Given the description of an element on the screen output the (x, y) to click on. 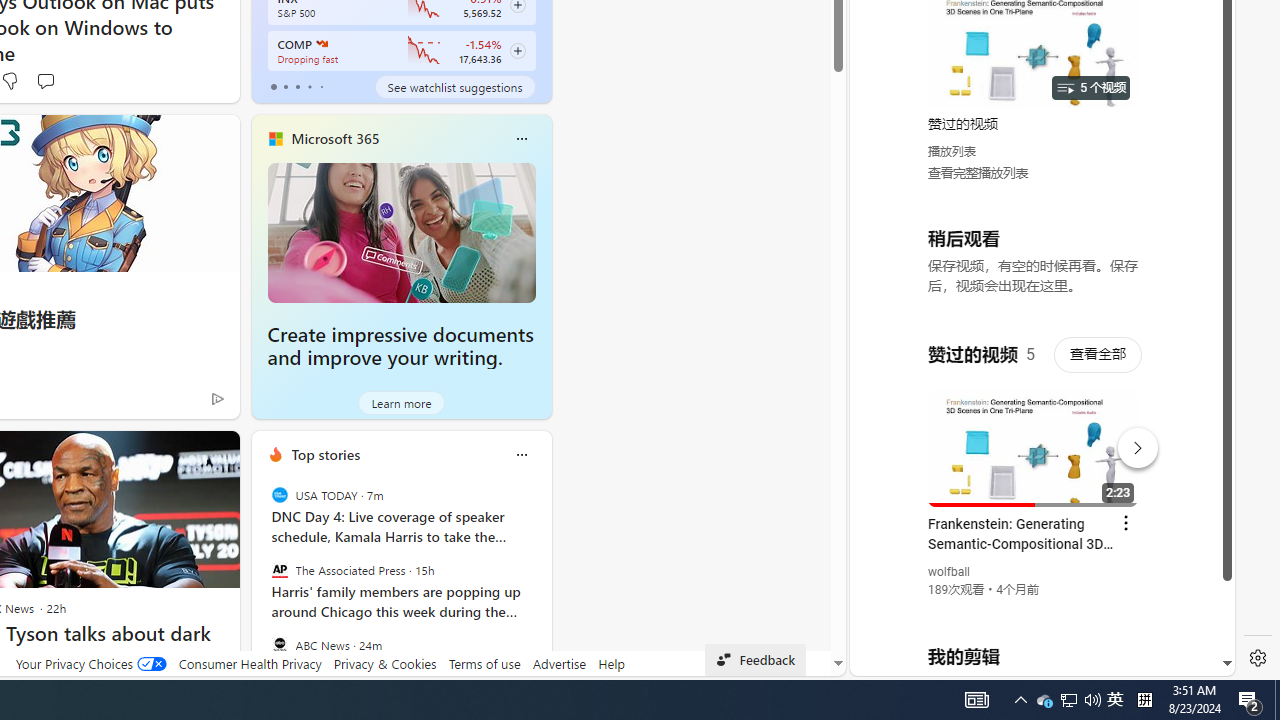
Class: follow-button  m (517, 51)
NASDAQ (320, 43)
previous (261, 583)
tab-1 (285, 86)
you (1034, 609)
Top stories (325, 454)
Create impressive documents and improve your writing. (400, 346)
